Given the description of an element on the screen output the (x, y) to click on. 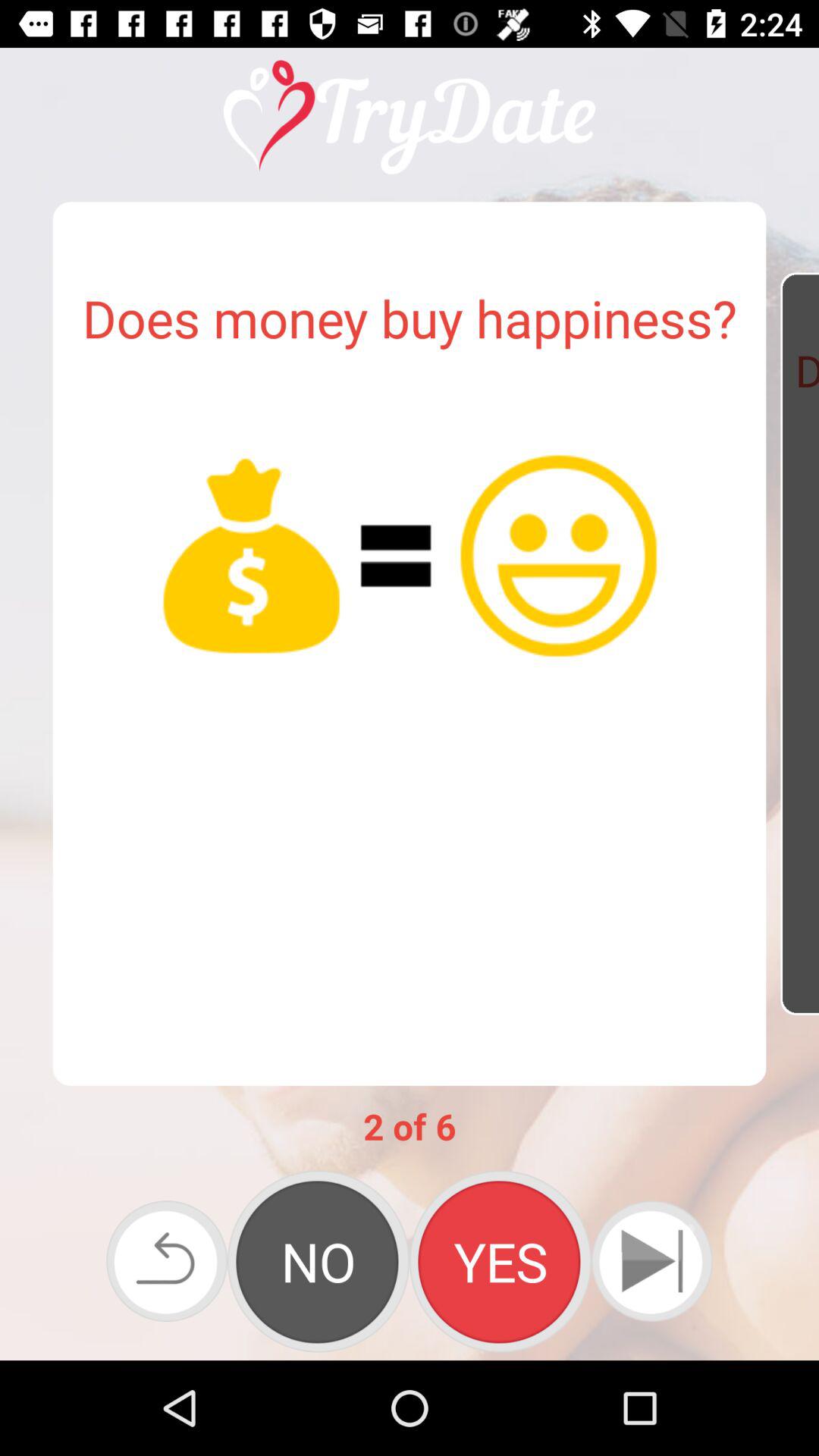
click the item below 2 of 6 icon (651, 1260)
